Given the description of an element on the screen output the (x, y) to click on. 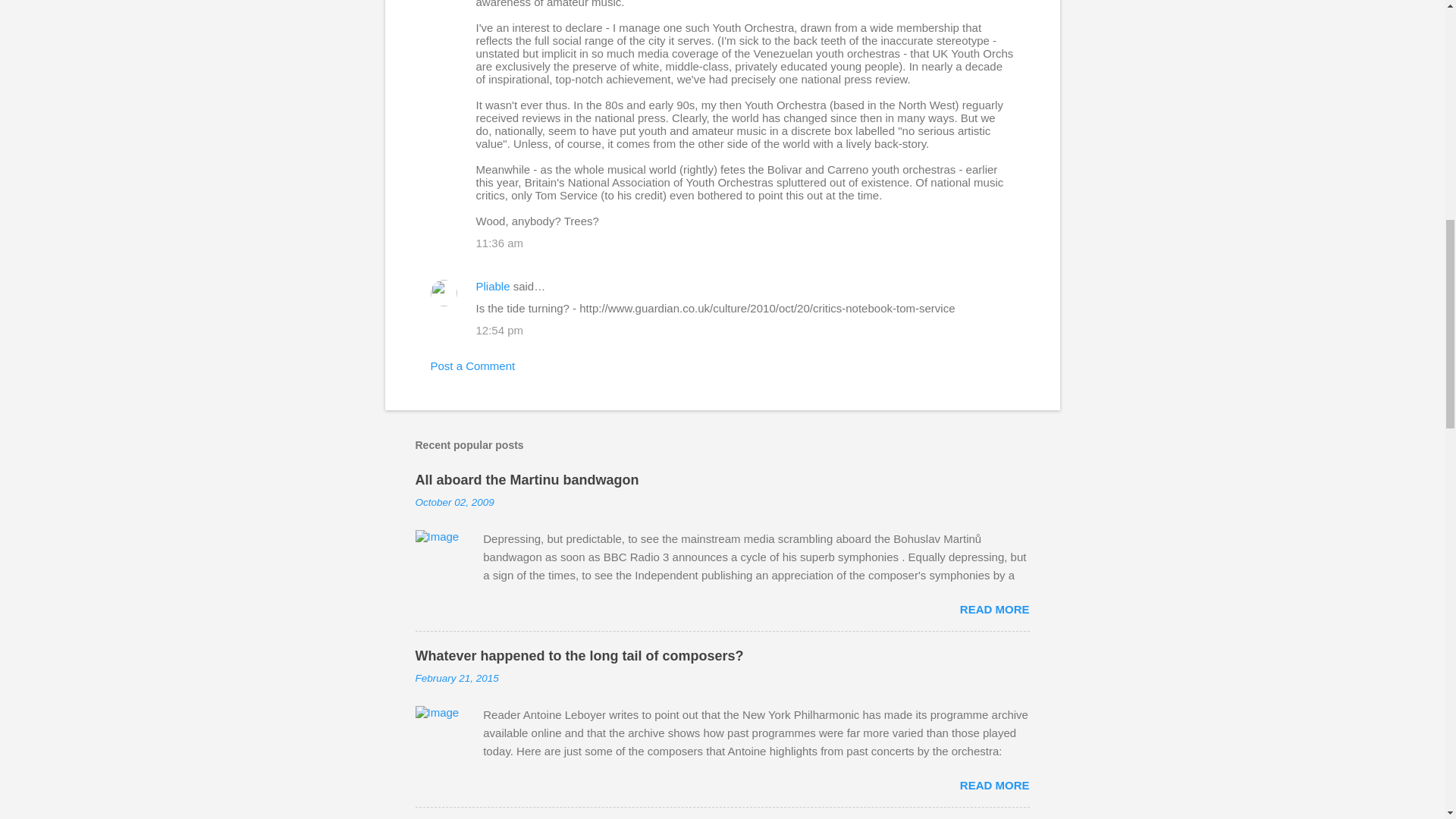
February 21, 2015 (456, 677)
Whatever happened to the long tail of composers? (579, 655)
All aboard the Martinu bandwagon (526, 479)
12:54 pm (500, 329)
11:36 am (500, 242)
comment permalink (500, 242)
Pliable (493, 286)
READ MORE (994, 608)
READ MORE (994, 784)
October 02, 2009 (454, 501)
